Given the description of an element on the screen output the (x, y) to click on. 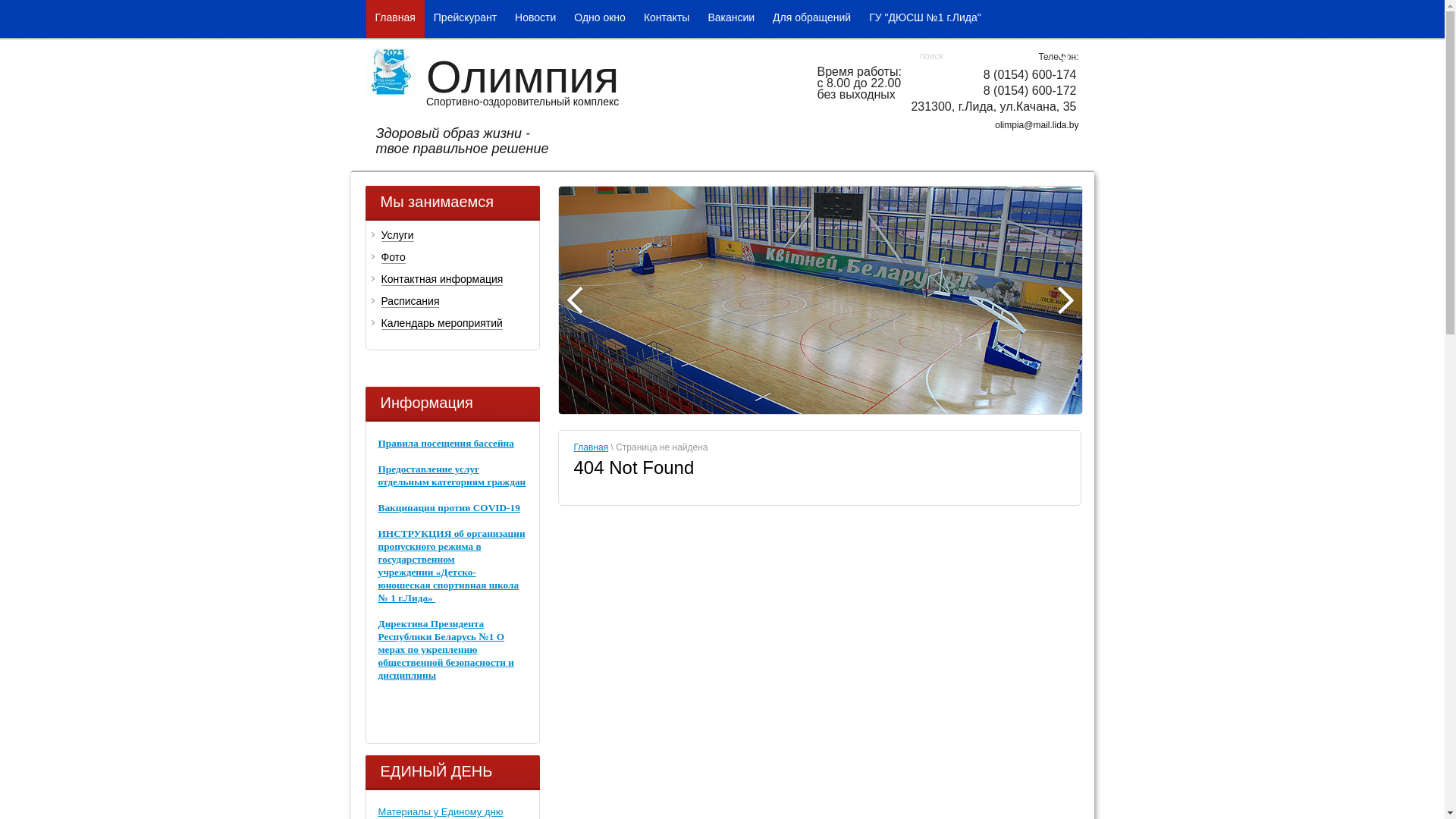
olimpia@mail.lida.by Element type: text (1036, 124)
